Given the description of an element on the screen output the (x, y) to click on. 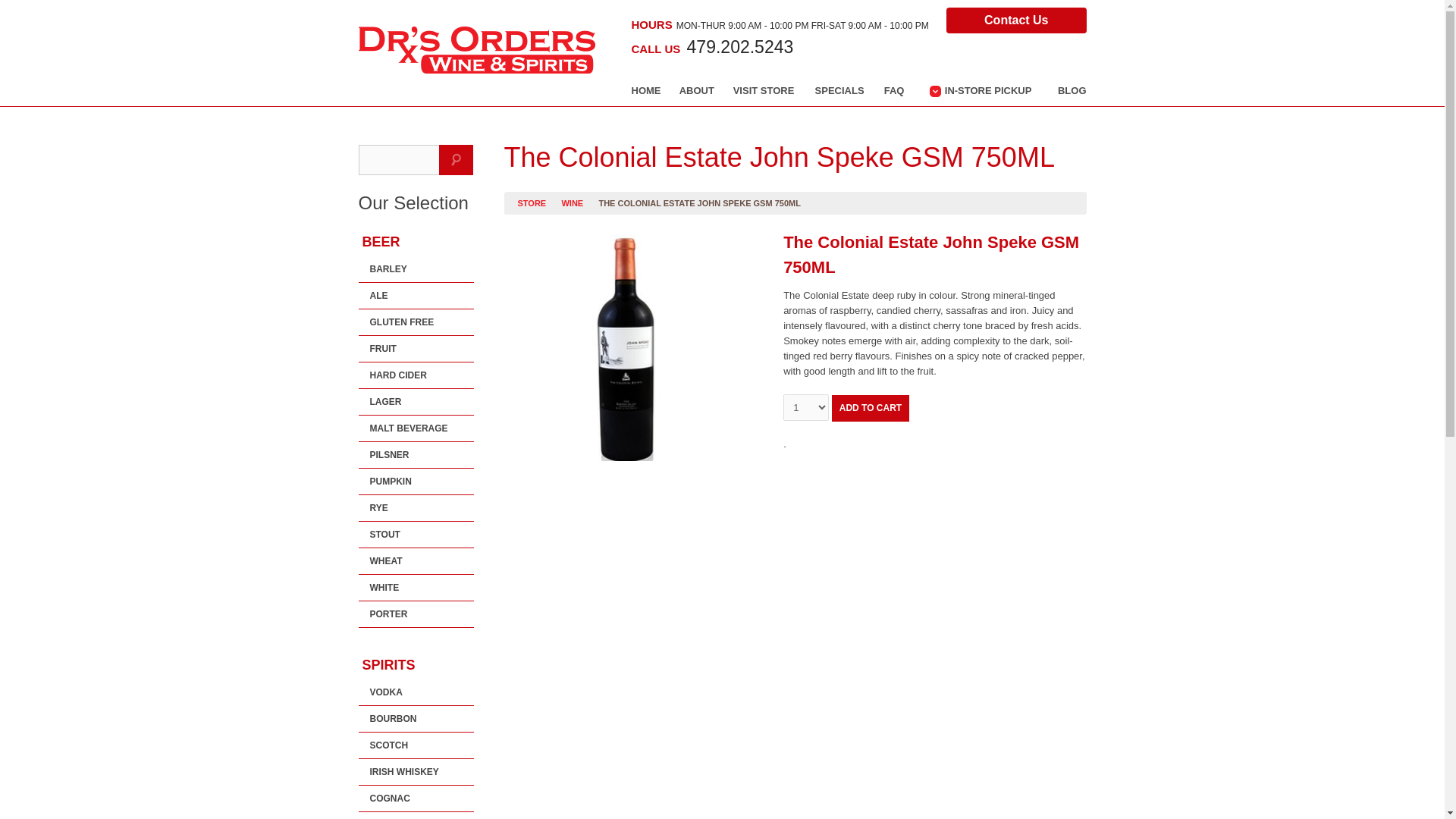
BEER (415, 241)
View all "GLUTEN FREE" products (415, 321)
STOUT (415, 534)
WHITE (415, 587)
IRISH WHISKEY (415, 771)
PUMPKIN (415, 481)
VODKA (415, 692)
View all "HARD CIDER" products (415, 375)
View all "MALT BEVERAGE" products (415, 428)
View all "WHITE" products (415, 587)
PILSNER (415, 454)
View all "BARLEY" products (415, 268)
LAGER (415, 401)
BARLEY (415, 268)
Search (456, 159)
